Given the description of an element on the screen output the (x, y) to click on. 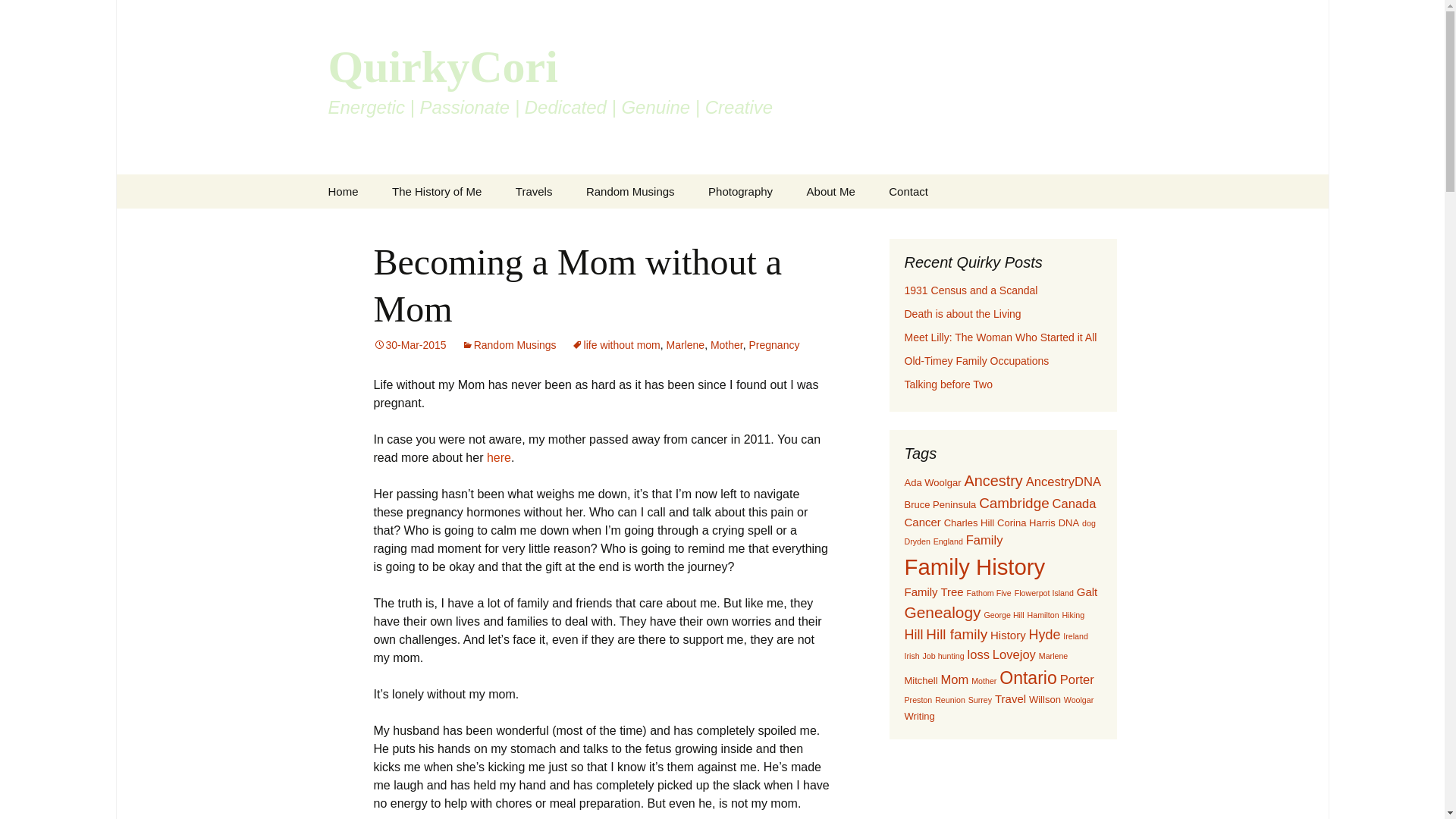
Ada Woolgar (932, 482)
Travels (533, 191)
Ancestry (992, 480)
Contact (908, 191)
Random Musings (630, 191)
Photography (740, 191)
The History of Me (436, 191)
Meet Lilly: The Woman Who Started it All (1000, 337)
Bruce Peninsula (939, 504)
Talking before Two (947, 384)
